Given the description of an element on the screen output the (x, y) to click on. 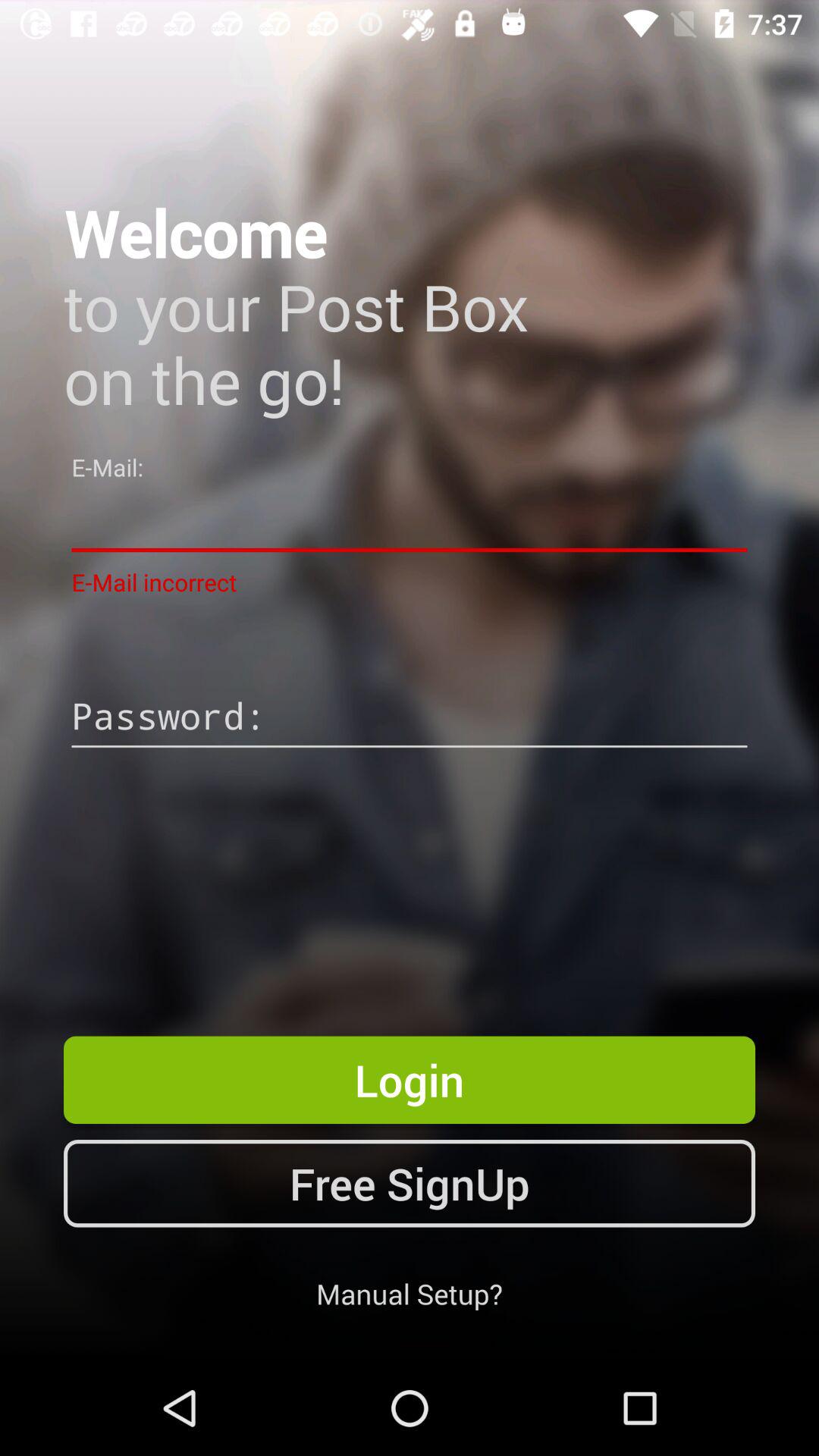
launch the manual setup? icon (409, 1293)
